Given the description of an element on the screen output the (x, y) to click on. 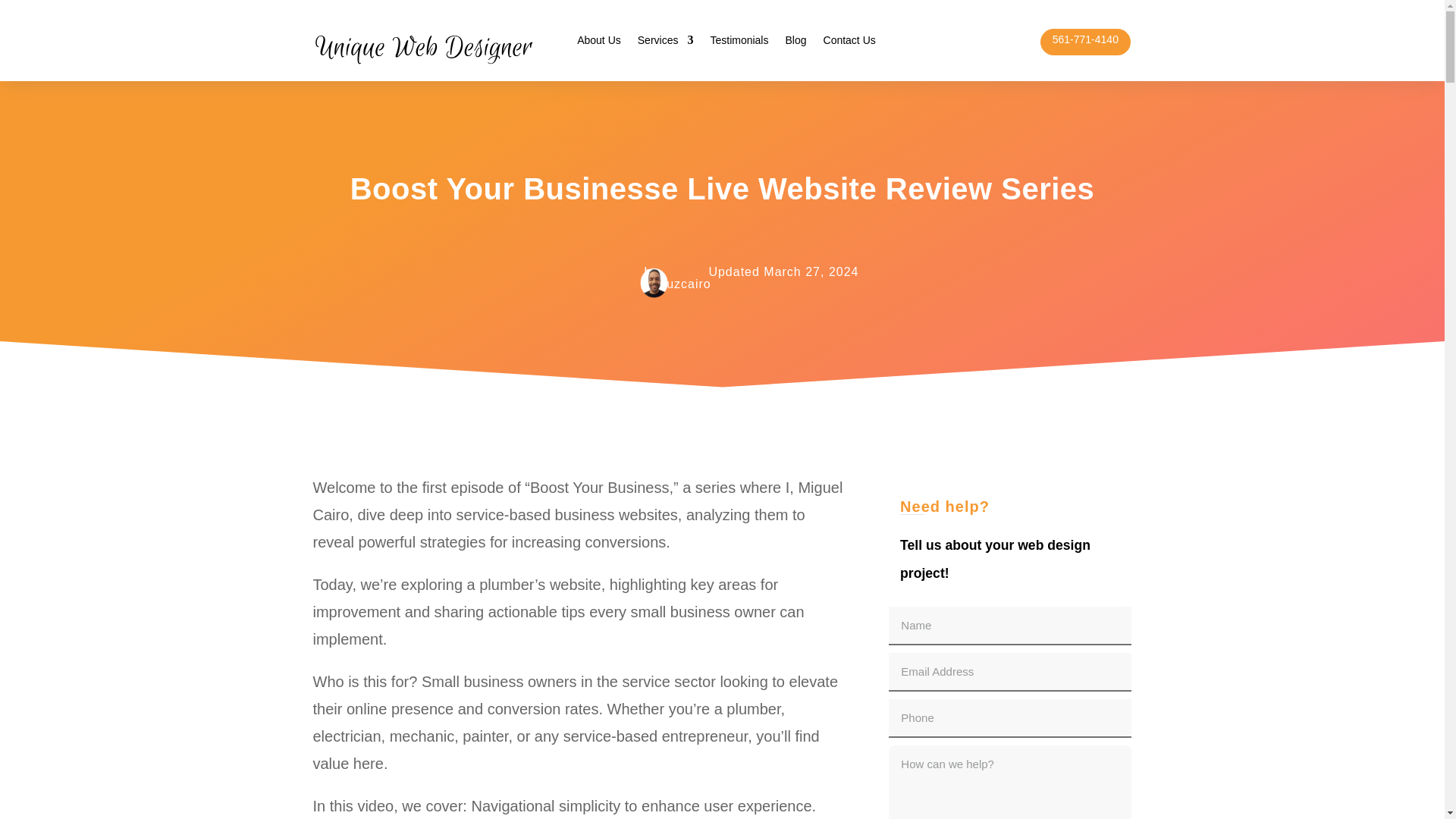
Testimonials (739, 43)
mcruzcairo (678, 283)
Services (665, 43)
Blog (795, 43)
Contact Us (850, 43)
About Us (598, 43)
561-771-4140 (1085, 39)
Only numbers allowed. (1009, 718)
